Given the description of an element on the screen output the (x, y) to click on. 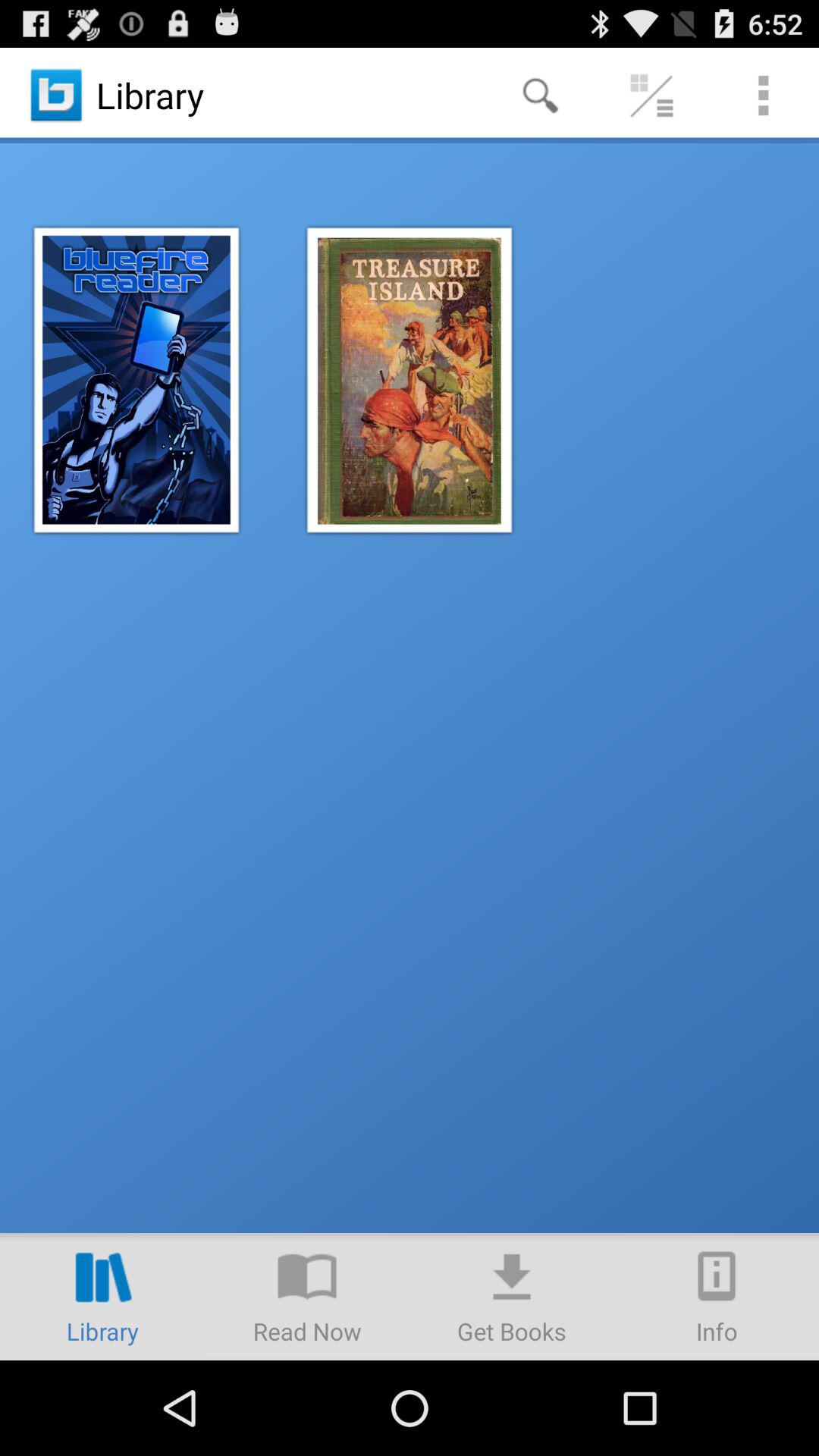
launch item at the bottom right corner (716, 1296)
